Given the description of an element on the screen output the (x, y) to click on. 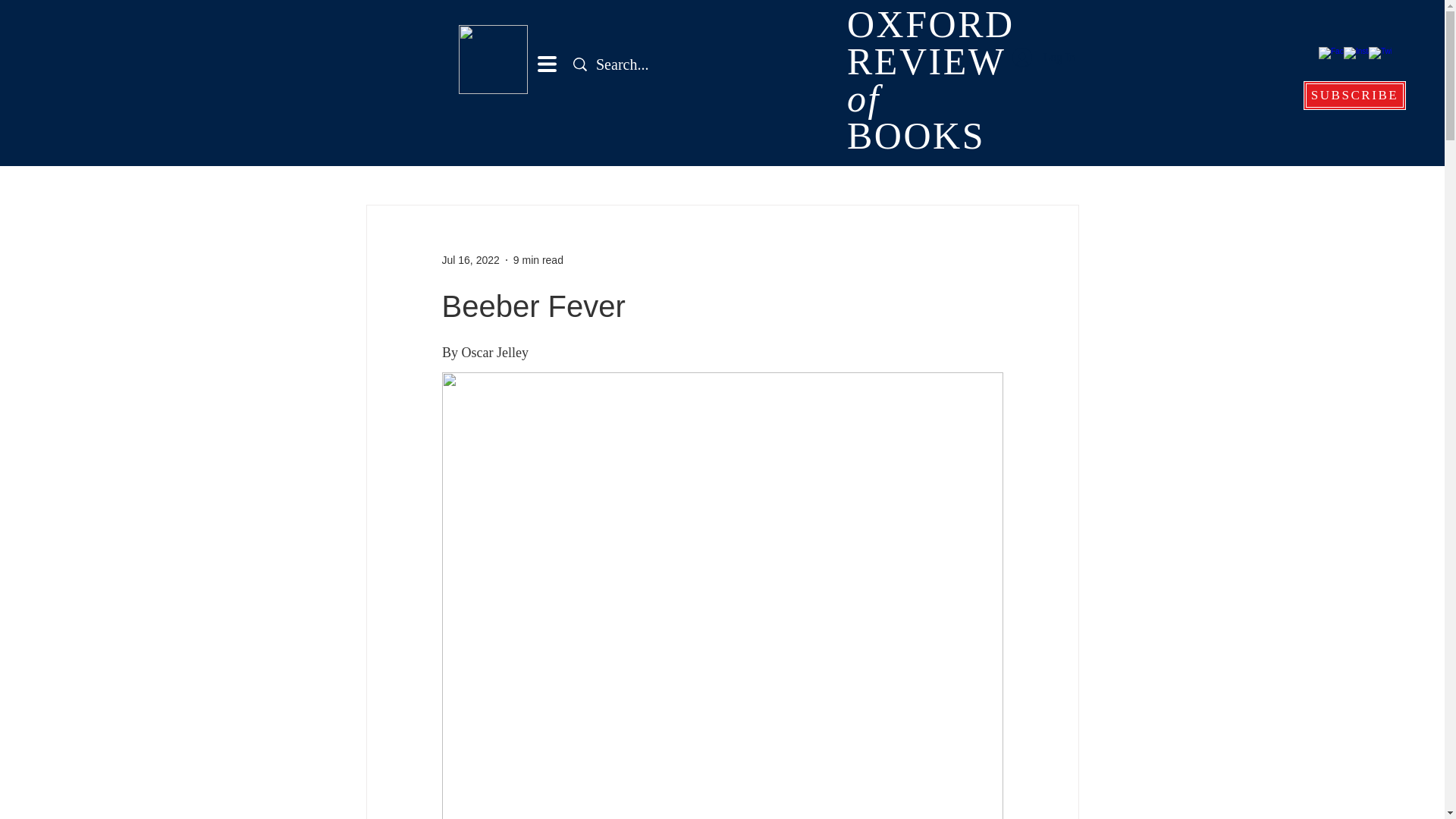
SUBSCRIBE (1354, 95)
Log In (931, 84)
Home Menu (1043, 57)
INTERVIEWS (397, 159)
9 min read (492, 159)
DIARY (538, 259)
REVIEWS (860, 159)
FICTION (789, 159)
POETRY (1000, 159)
